Given the description of an element on the screen output the (x, y) to click on. 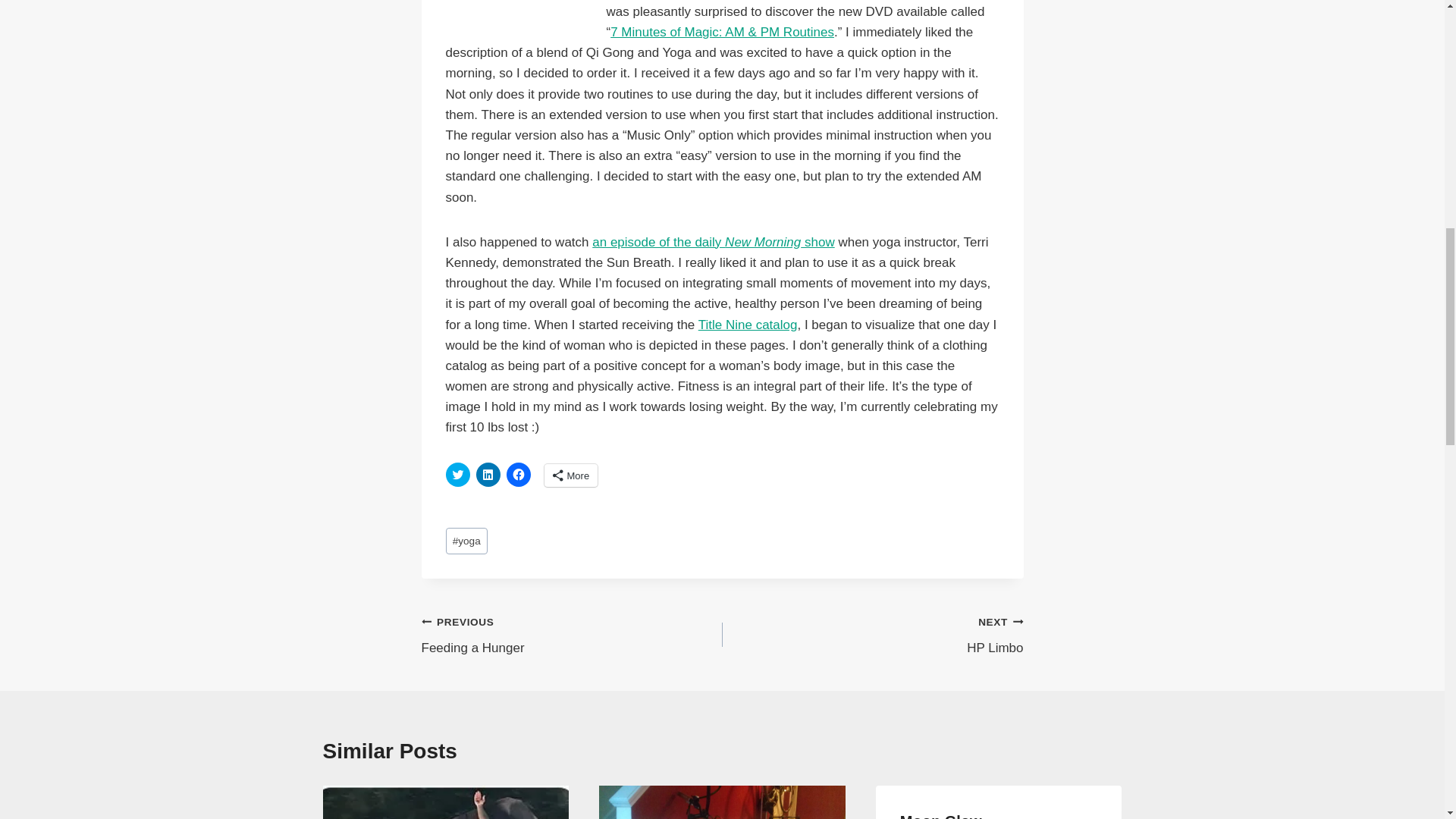
Click to share on LinkedIn (488, 474)
an episode of the daily New Morning show (713, 242)
yoga (466, 540)
7 Minutes of Magic (513, 20)
Click to share on Facebook (518, 474)
Title Nine catalog (747, 324)
More (571, 475)
Click to share on Twitter (572, 634)
